Given the description of an element on the screen output the (x, y) to click on. 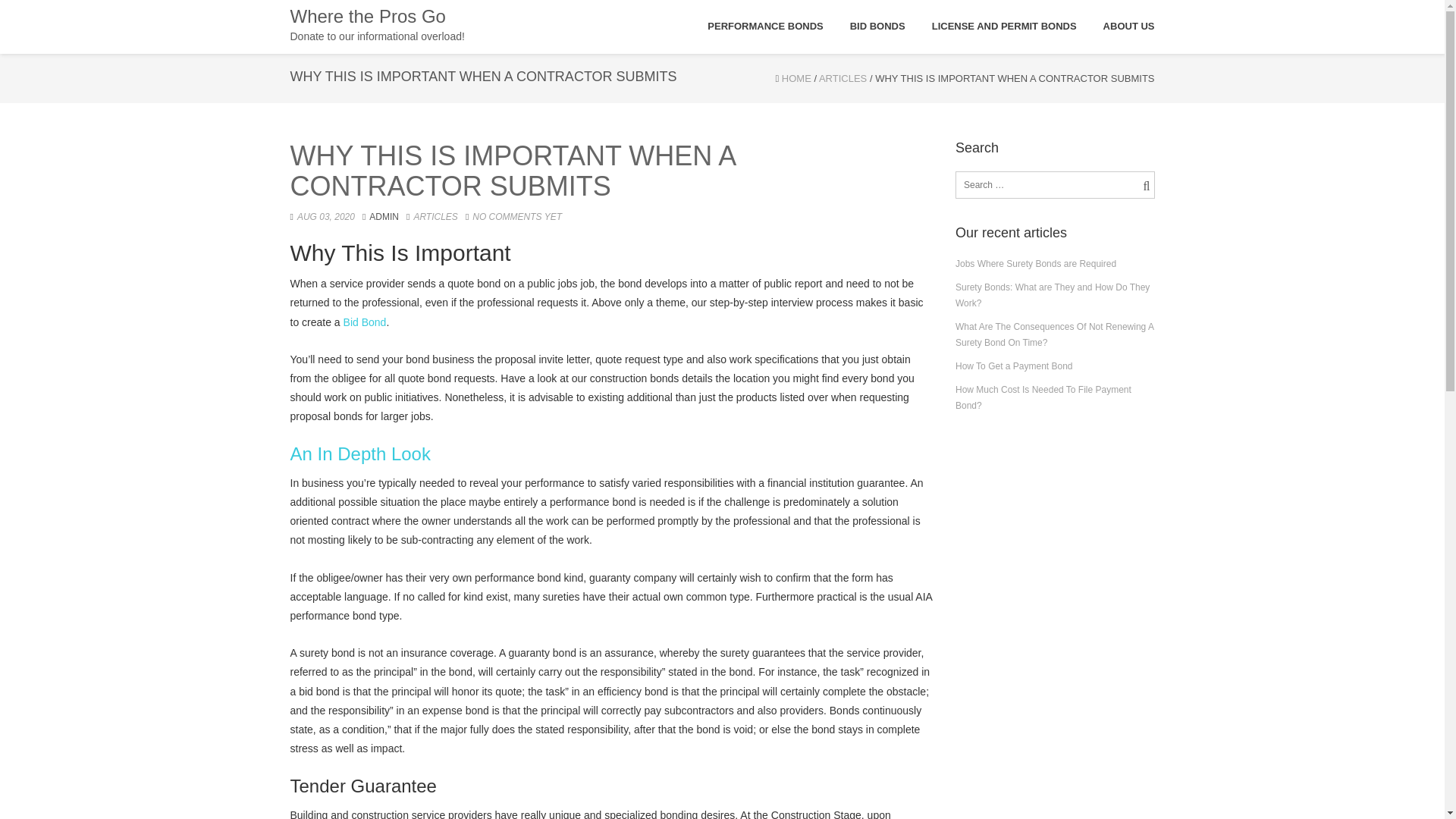
PERFORMANCE BONDS (764, 26)
BID BONDS (877, 26)
Where the Pros Go (376, 24)
LICENSE AND PERMIT BONDS (1004, 26)
